Given the description of an element on the screen output the (x, y) to click on. 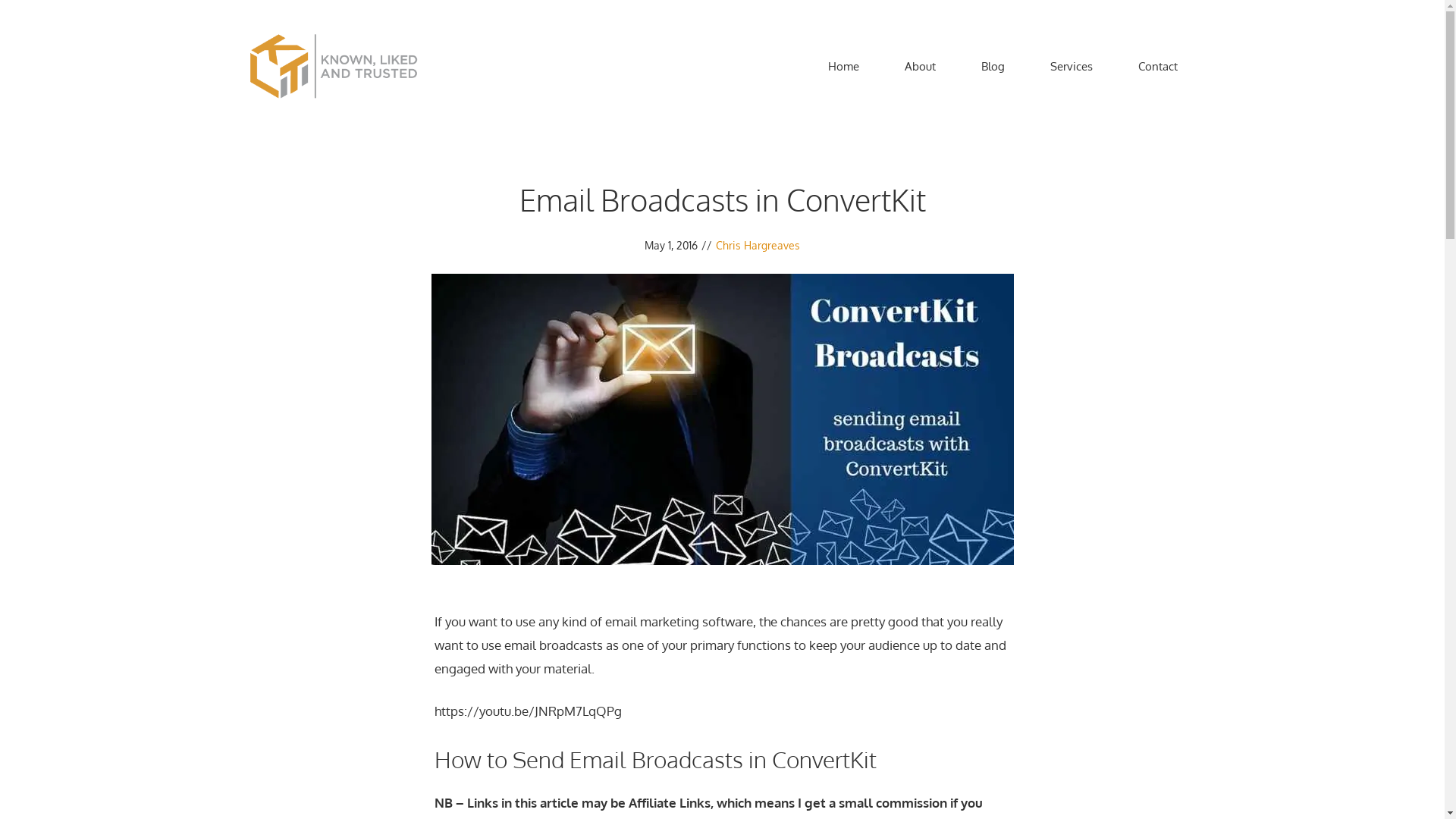
Blog Element type: text (992, 66)
Home Element type: text (843, 66)
About Element type: text (919, 66)
Contact Element type: text (1156, 66)
Chris Hargreaves Element type: text (757, 244)
Services Element type: text (1070, 66)
